Given the description of an element on the screen output the (x, y) to click on. 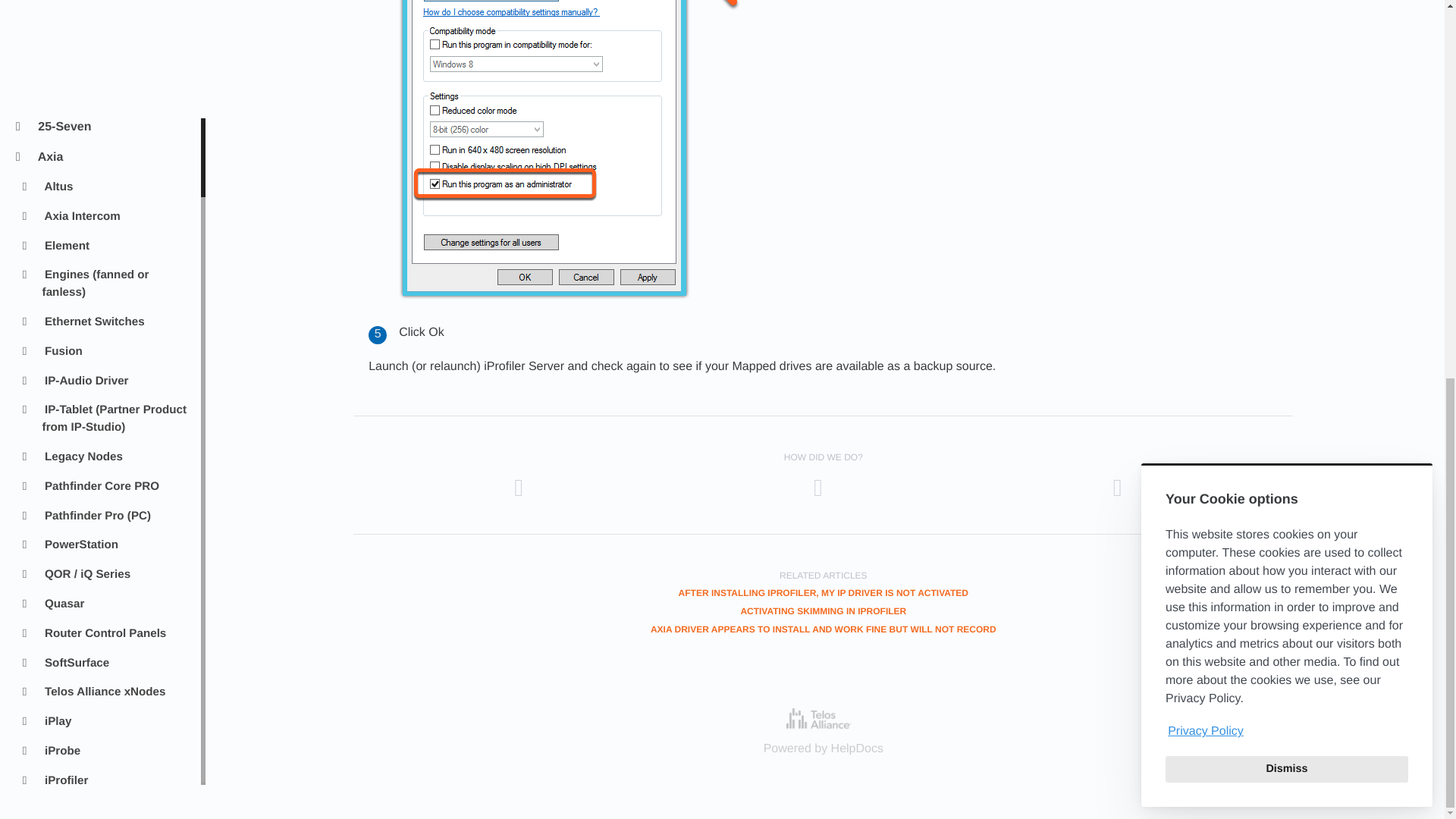
Powered by HelpDocs (823, 719)
Powered by HelpDocs (822, 748)
Privacy Policy (1286, 29)
Dismiss (1286, 67)
